Given the description of an element on the screen output the (x, y) to click on. 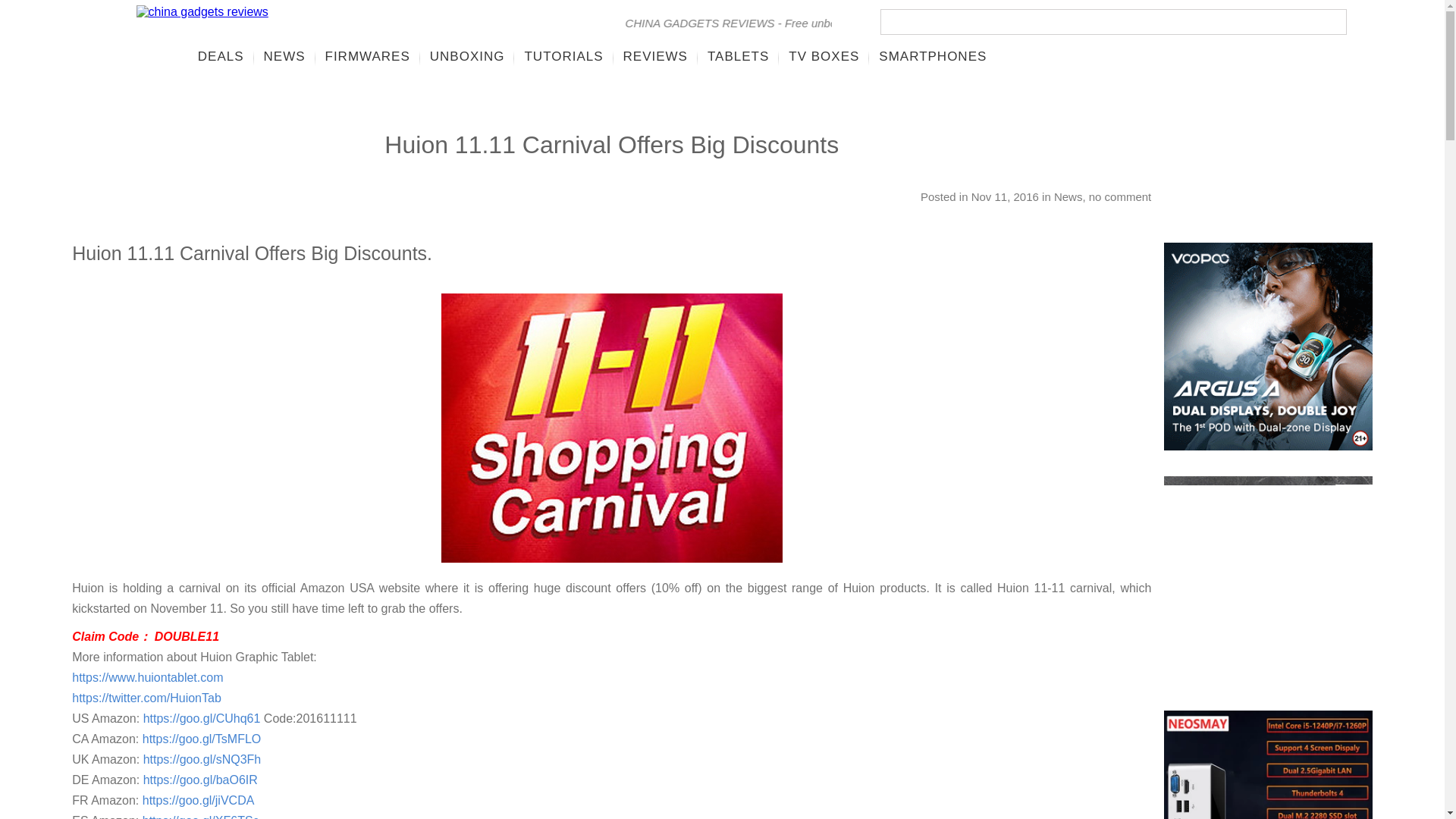
UNBOXING (467, 56)
FIRMWARES (367, 56)
News (1068, 196)
DEALS (220, 56)
REVIEWS (654, 56)
TUTORIALS (562, 56)
NEWS (284, 56)
TV BOXES (823, 56)
TABLETS (737, 56)
SMARTPHONES (932, 56)
